Given the description of an element on the screen output the (x, y) to click on. 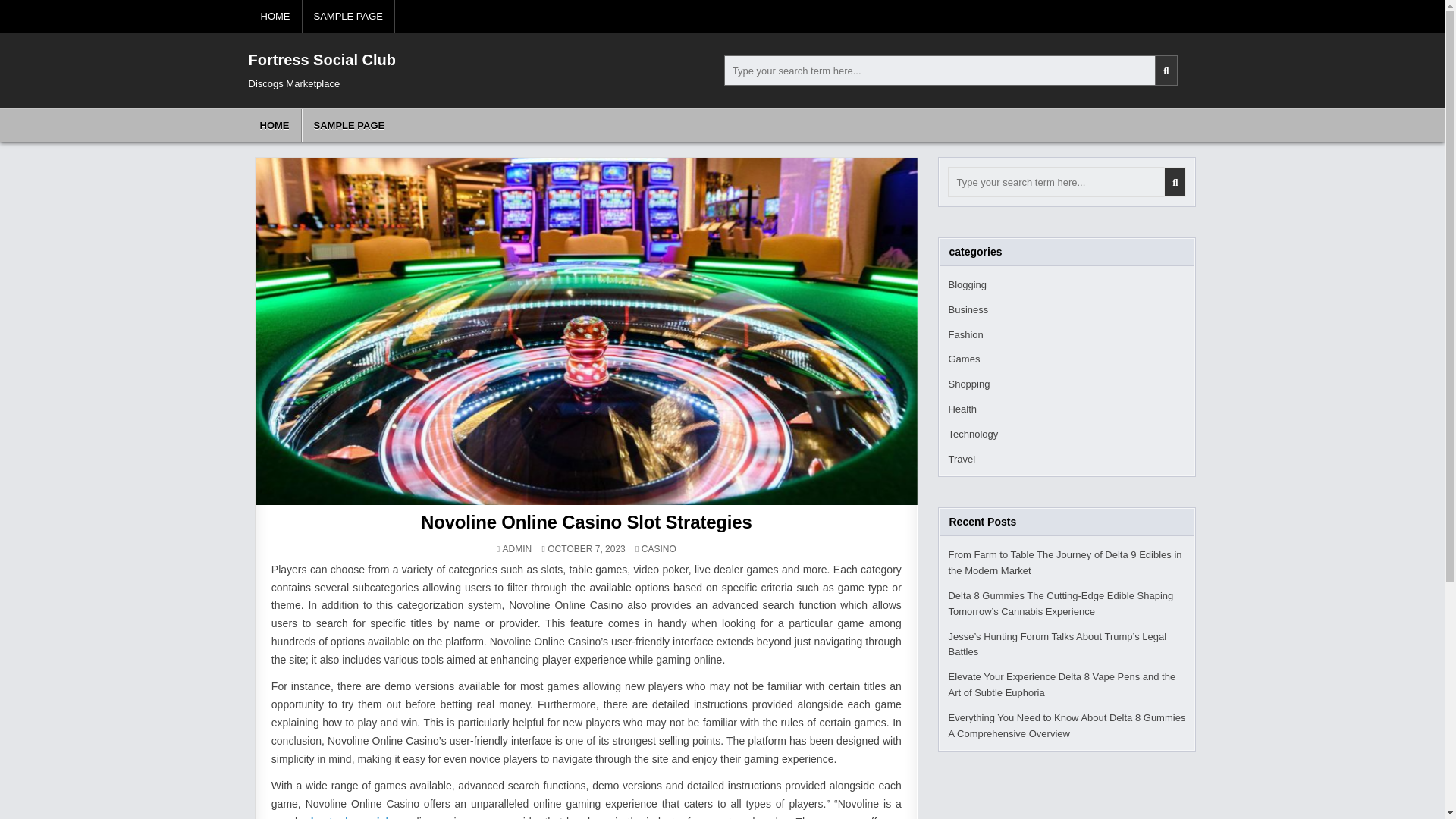
SAMPLE PAGE (347, 16)
Fashion (964, 334)
Business (967, 309)
Fortress Social Club (322, 59)
HOME (274, 124)
Novoline Online Casino Slot Strategies (585, 521)
CASINO (659, 548)
Technology (972, 433)
